Given the description of an element on the screen output the (x, y) to click on. 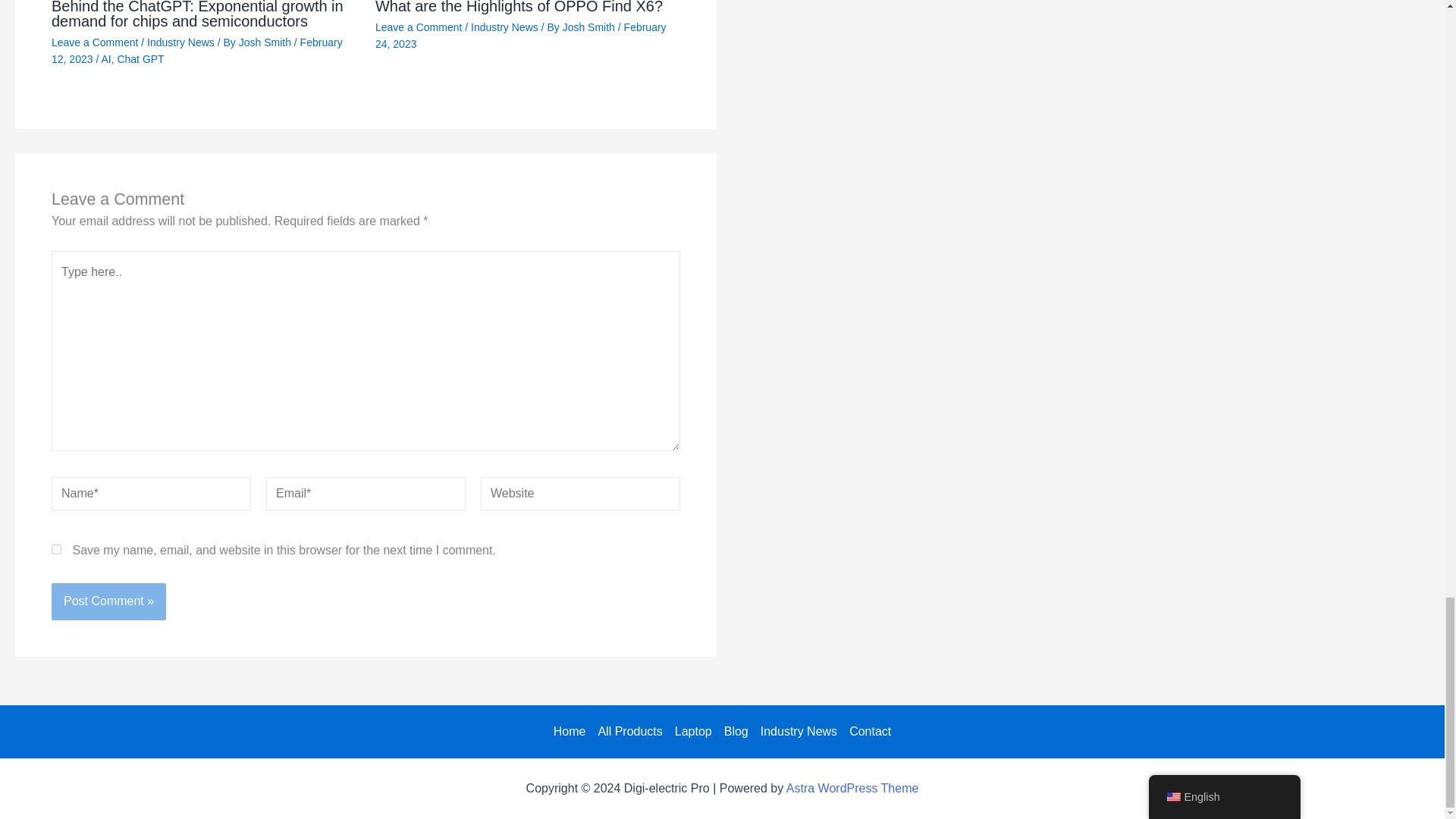
View all posts by Josh Smith (589, 27)
yes (55, 549)
View all posts by Josh Smith (266, 42)
